Given the description of an element on the screen output the (x, y) to click on. 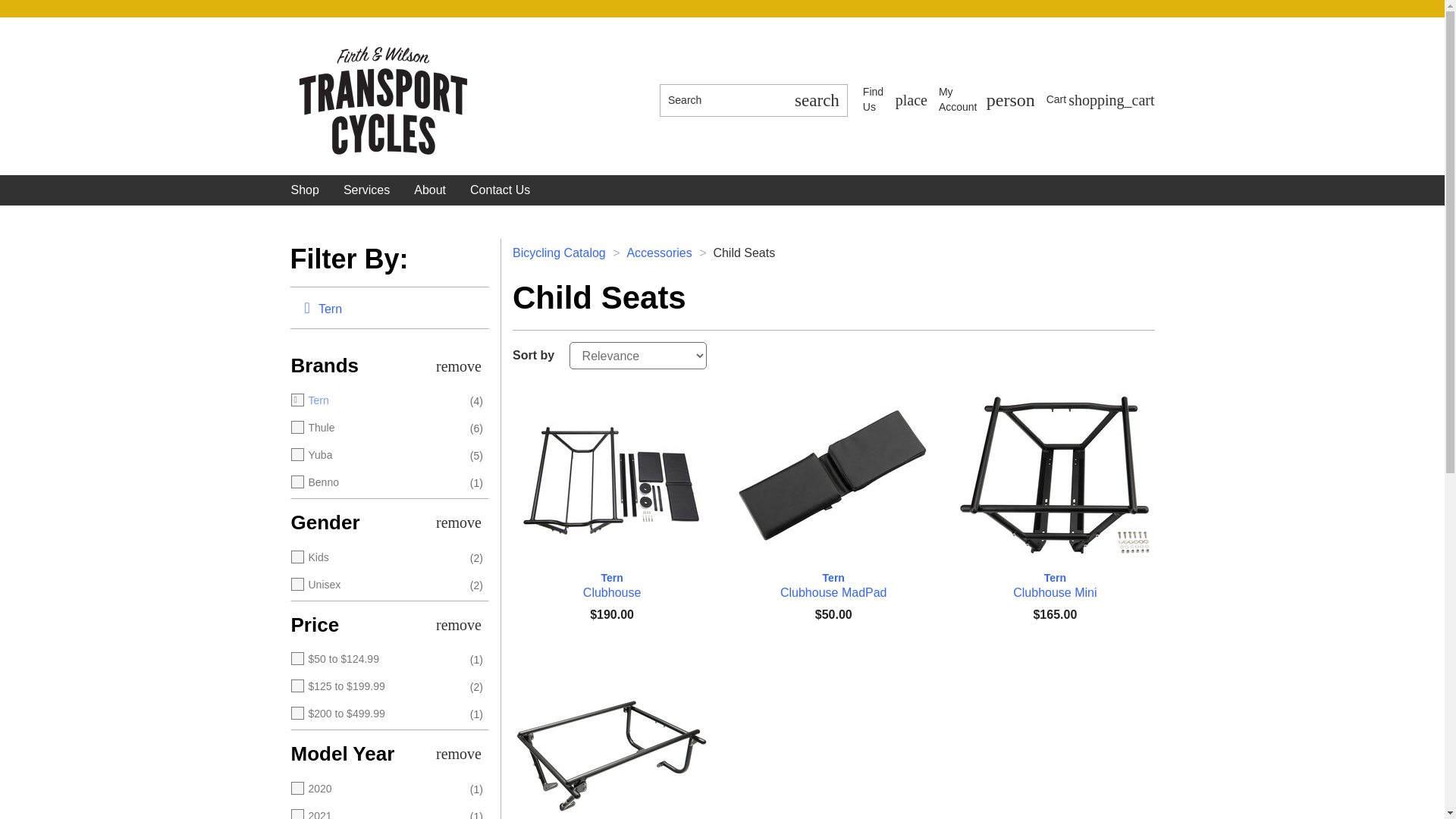
Tern Clubhouse (611, 475)
Stores (895, 100)
Shop (304, 190)
Tern Clubhouse MadPad (895, 100)
Search (833, 585)
Tern Clubhouse MadPad (722, 100)
Tern Clubhouse (833, 475)
Account (611, 585)
Search (987, 100)
Tern Clubhouse Mini (816, 100)
Tern Clubhouse Mini (987, 100)
